Given the description of an element on the screen output the (x, y) to click on. 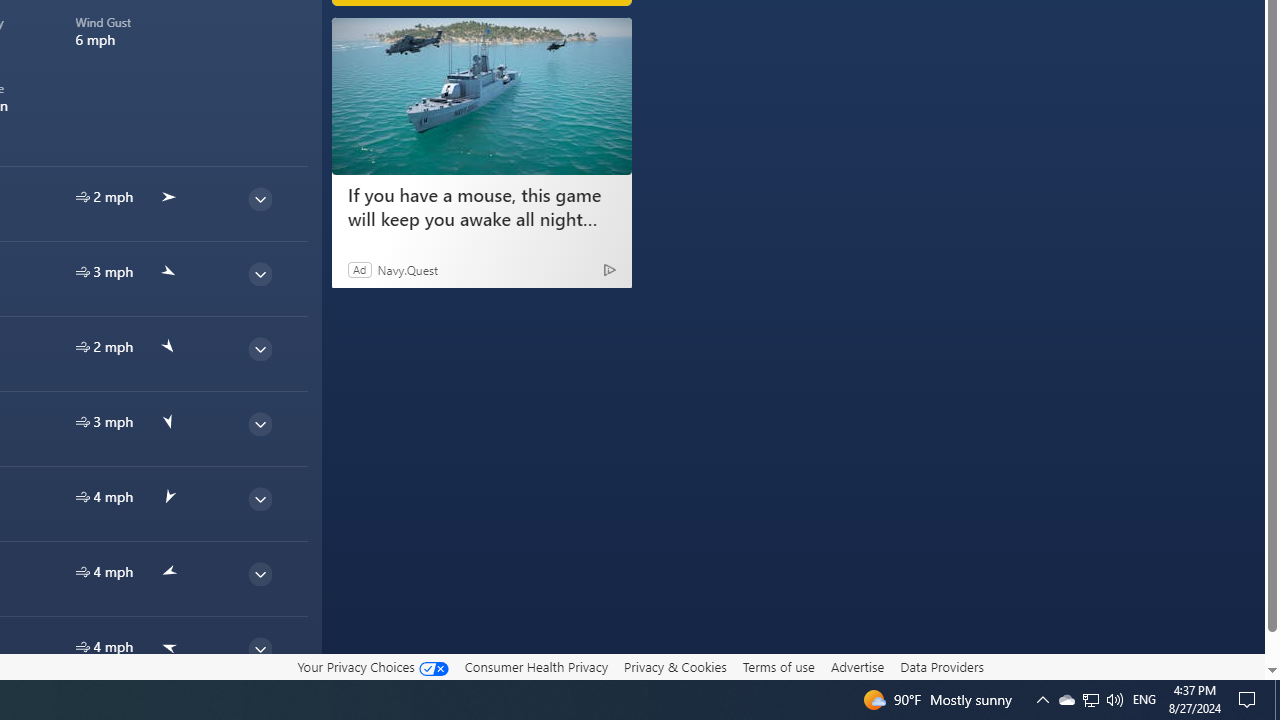
User Promoted Notification Area (1090, 699)
Show desktop (1066, 699)
Q2790: 100% (1277, 699)
Action Center, No new notifications (1091, 699)
Notification Chevron (1114, 699)
Tray Input Indicator - English (United States) (1250, 699)
